Given the description of an element on the screen output the (x, y) to click on. 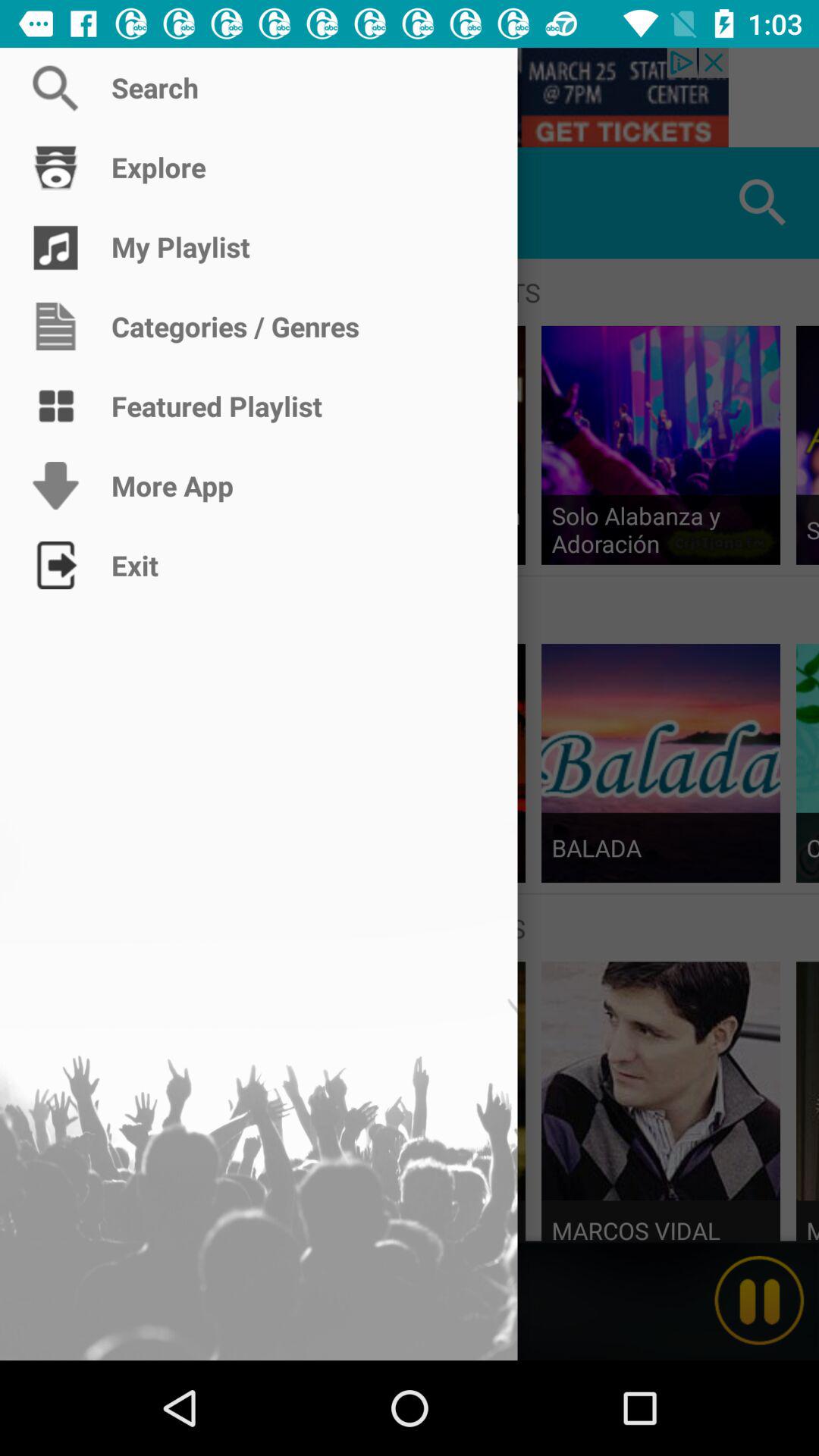
go to playlist (55, 202)
